Given the description of an element on the screen output the (x, y) to click on. 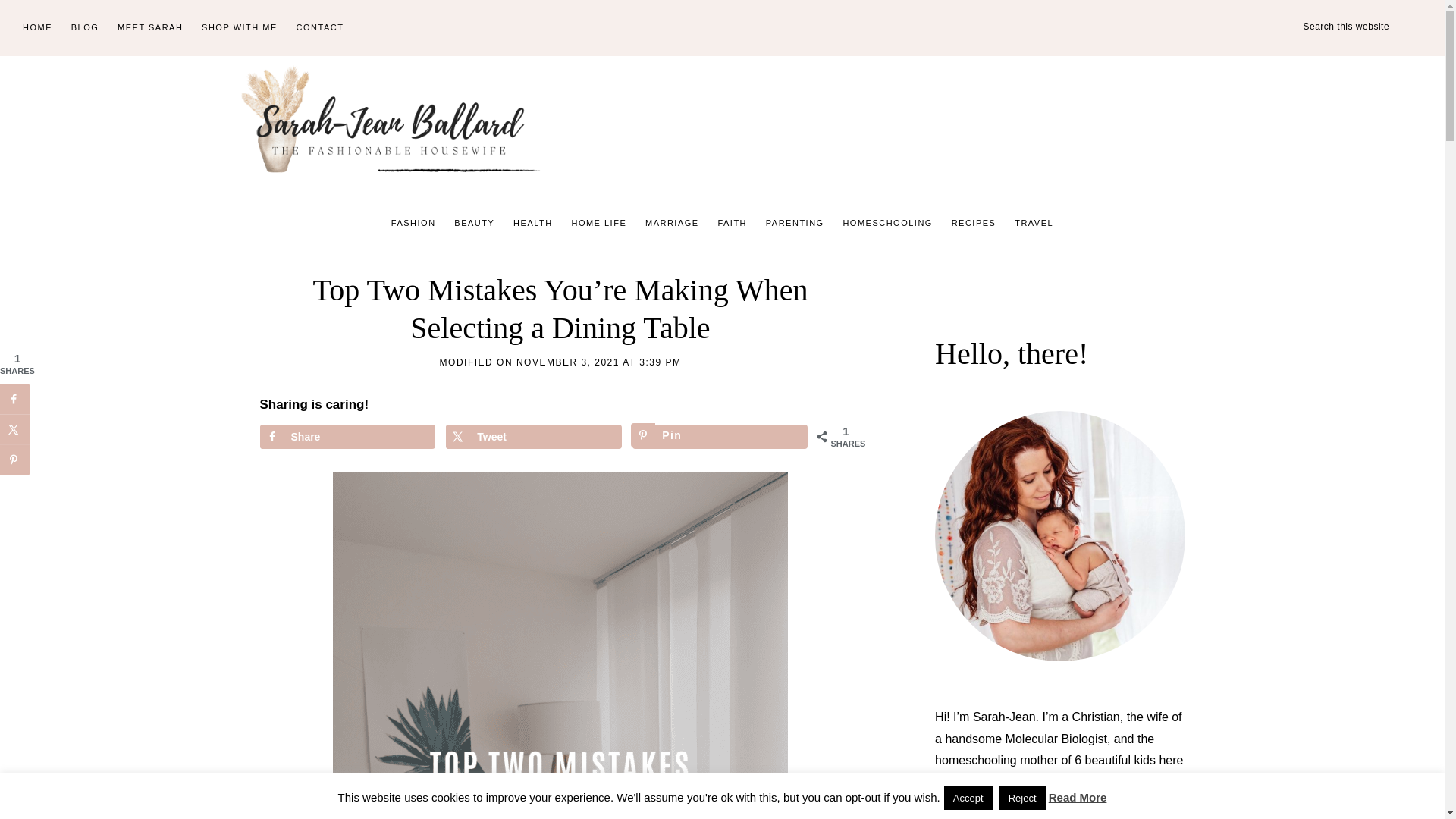
Save to Pinterest (15, 459)
SHOP WITH ME (239, 27)
FASHION (414, 223)
MEET SARAH (150, 27)
HOME (36, 27)
Save to Pinterest (719, 436)
BLOG (85, 27)
Share on X (15, 429)
Share on Facebook (346, 436)
Share on Facebook (15, 399)
BEAUTY (474, 223)
Share on X (533, 436)
CONTACT (320, 27)
